Given the description of an element on the screen output the (x, y) to click on. 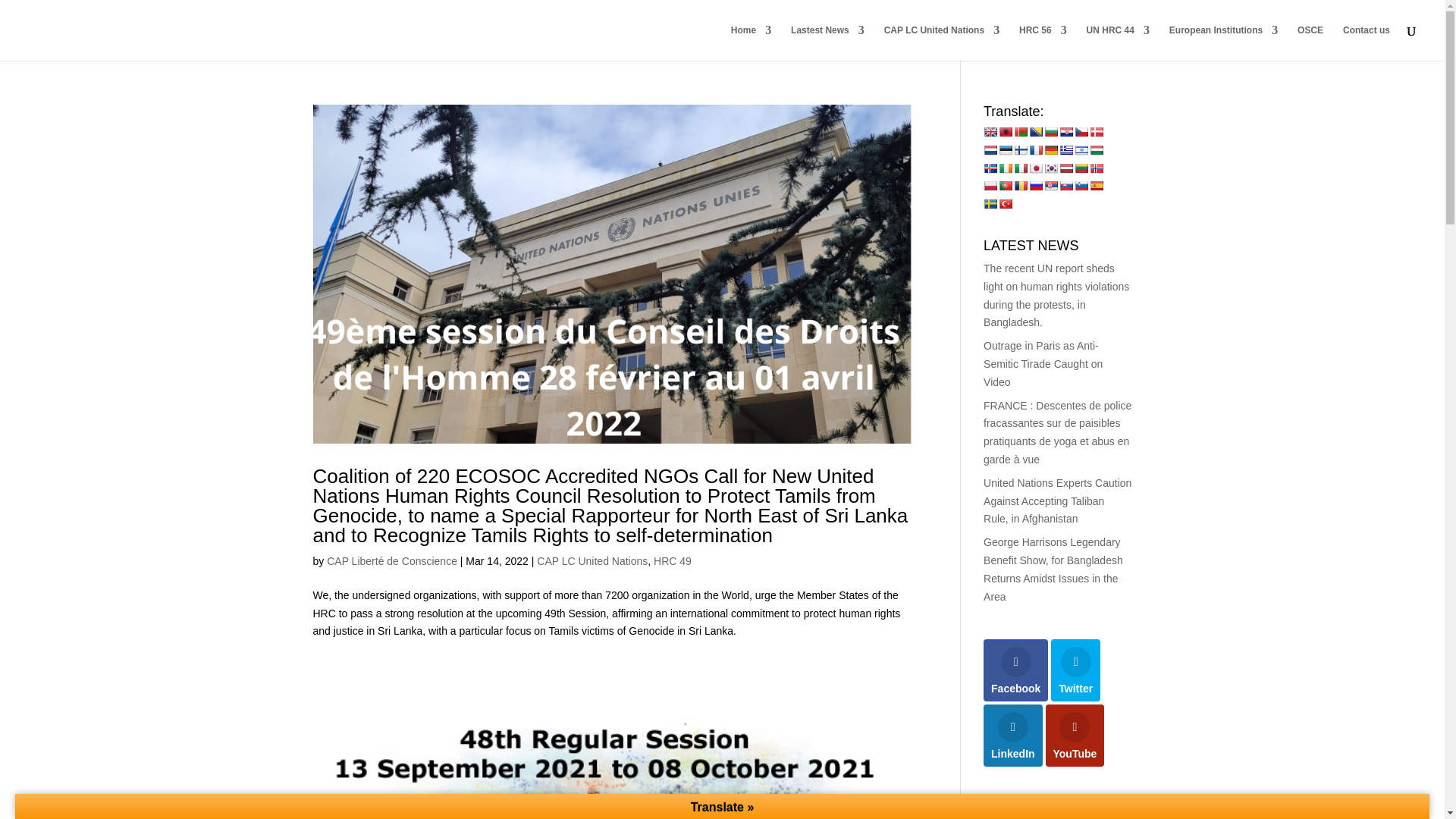
Dutch (990, 150)
Belarusian (1020, 132)
UN HRC 44 (1118, 42)
Bosnian (1035, 132)
Albanian (1004, 132)
Home (750, 42)
English (990, 132)
Croatian (1066, 132)
CAP LC United Nations (940, 42)
Estonian (1004, 150)
